Given the description of an element on the screen output the (x, y) to click on. 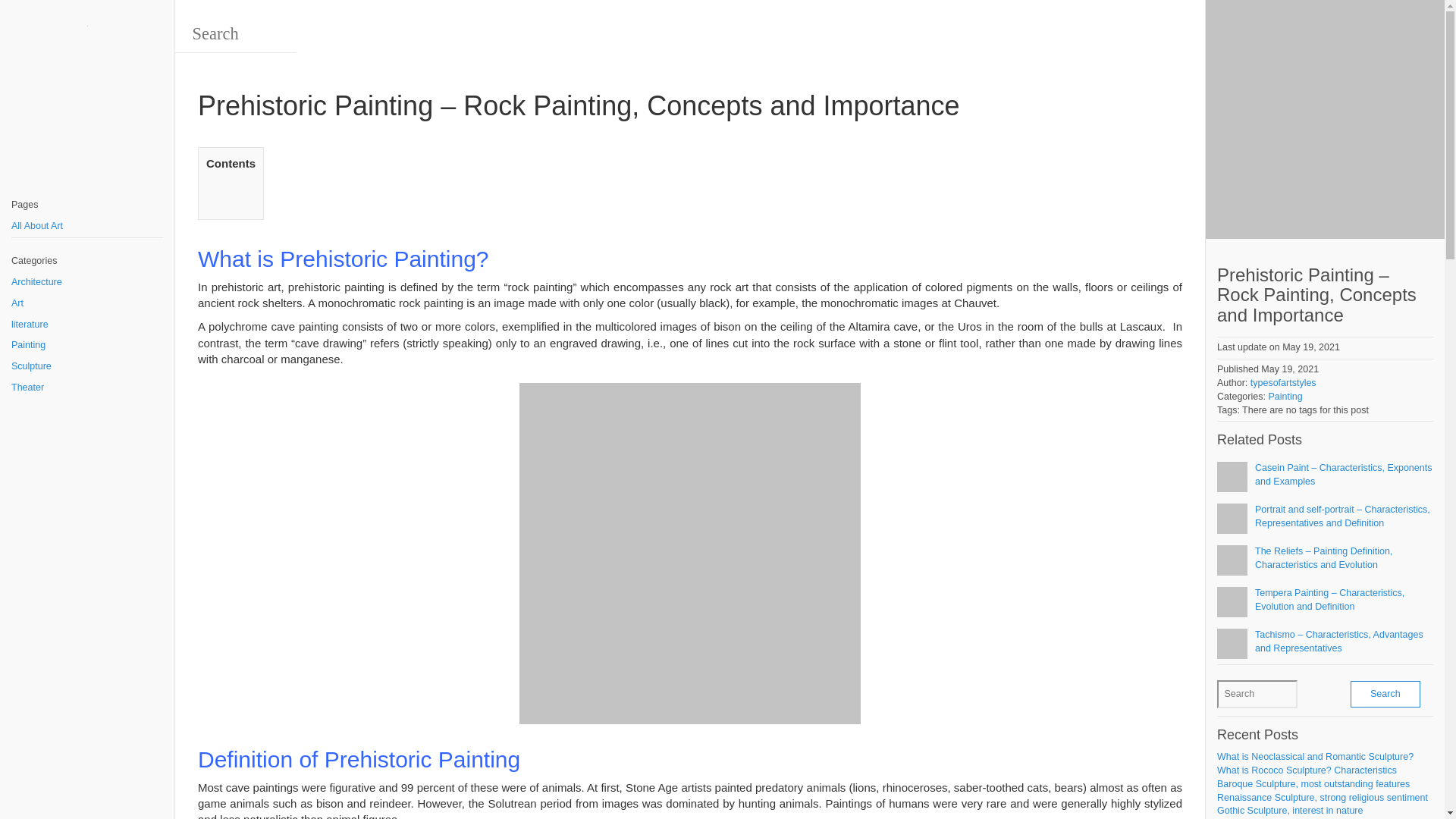
Gothic Sculpture, interest in nature (1289, 810)
What is Neoclassical and Romantic Sculpture? (1315, 756)
literature (87, 324)
Search (1386, 693)
Theater (87, 387)
Architecture (87, 282)
Posts by typesofartstyles (1283, 382)
Search (235, 34)
Search (1386, 693)
types of art styles (87, 30)
Search (1257, 694)
typesofartstyles (1283, 382)
Painting (87, 345)
Sculpture (87, 366)
Painting (1284, 396)
